Given the description of an element on the screen output the (x, y) to click on. 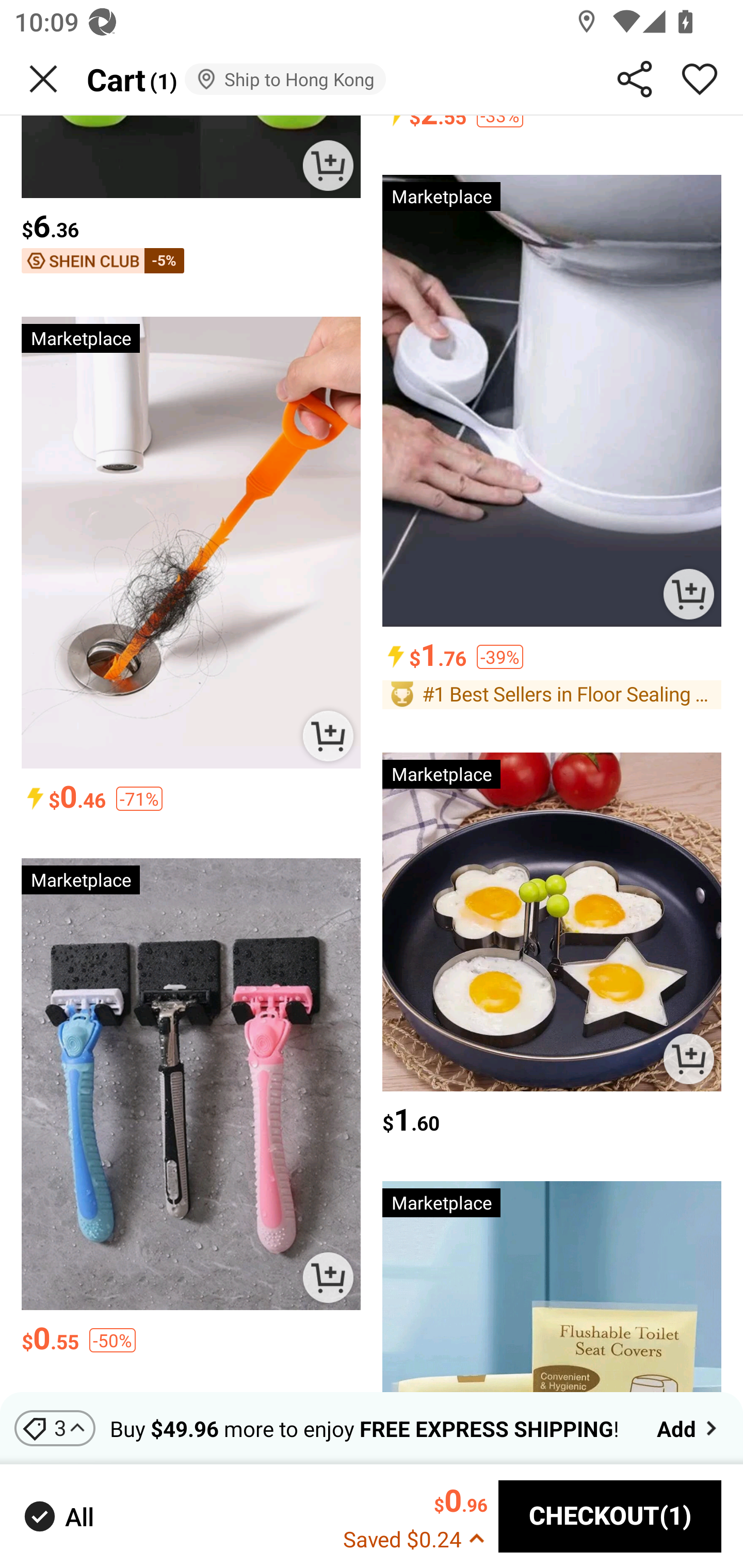
BACK (43, 78)
Wishlist (699, 78)
Share (634, 79)
Ship to Hong Kong (285, 78)
ADD TO CART (327, 165)
ADD TO CART (688, 594)
ADD TO CART (327, 736)
ADD TO CART (688, 1059)
ADD TO CART (327, 1277)
3 (54, 1428)
Add (688, 1428)
CHECKOUT(1) (609, 1516)
All (57, 1517)
